Given the description of an element on the screen output the (x, y) to click on. 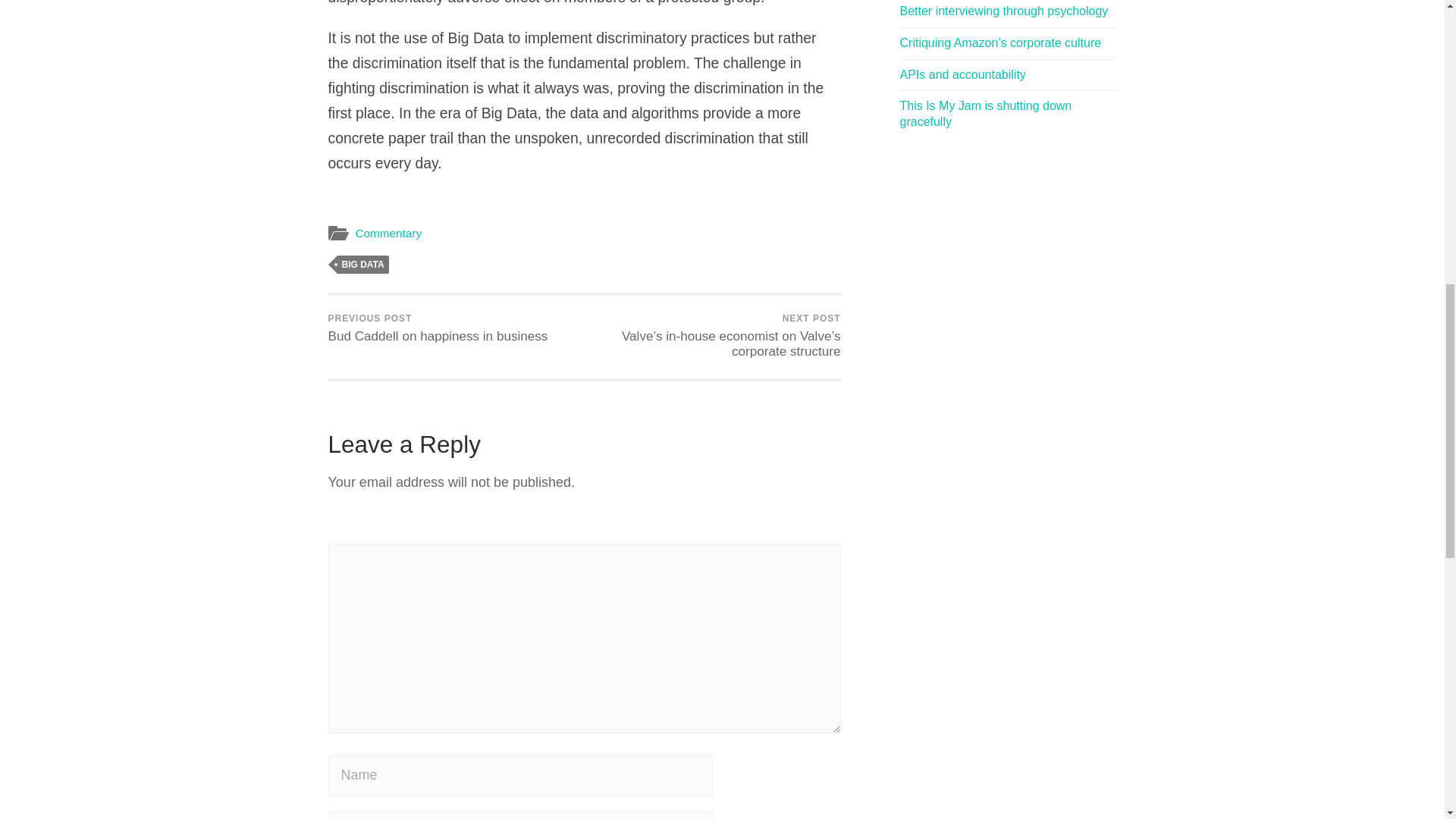
Better interviewing through psychology (1003, 10)
Previous post: Bud Caddell on happiness in business (437, 329)
BIG DATA (362, 264)
APIs and accountability (962, 74)
This Is My Jam is shutting down gracefully (985, 113)
Commentary (388, 232)
